Given the description of an element on the screen output the (x, y) to click on. 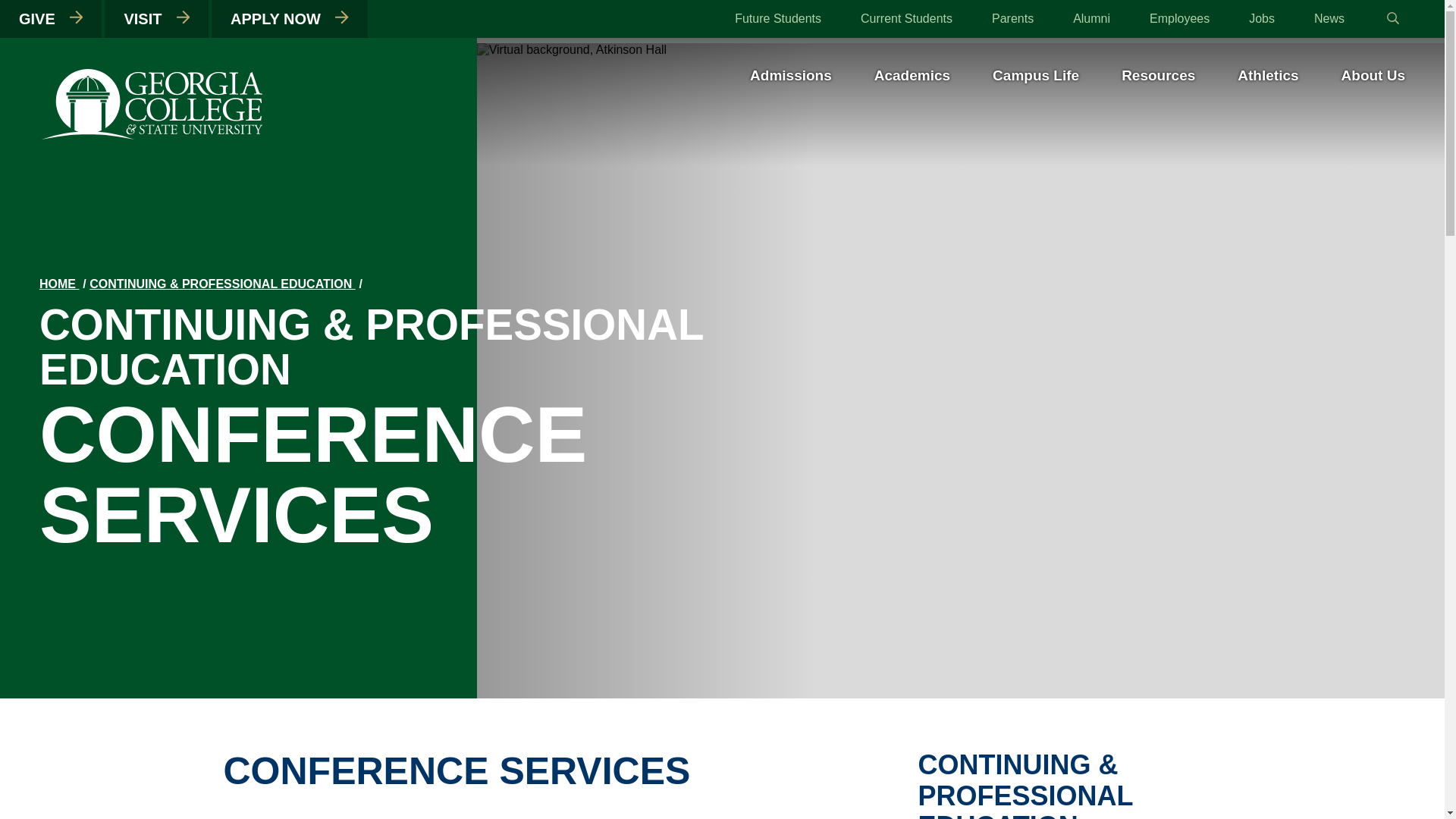
GIVE   PROCESS SEARCH (50, 18)
Alumni (1091, 18)
Parents (1012, 18)
Campus Life (1035, 79)
Employees (1179, 18)
Jobs (1262, 18)
Academics (912, 79)
VISIT   PROCESS SEARCH (156, 18)
News (1328, 18)
Open Search (1393, 18)
Future Students (778, 18)
Skip to main content (721, 1)
Admissions (790, 79)
PROCESS SEARCH (182, 16)
Click for home page (152, 136)
